Given the description of an element on the screen output the (x, y) to click on. 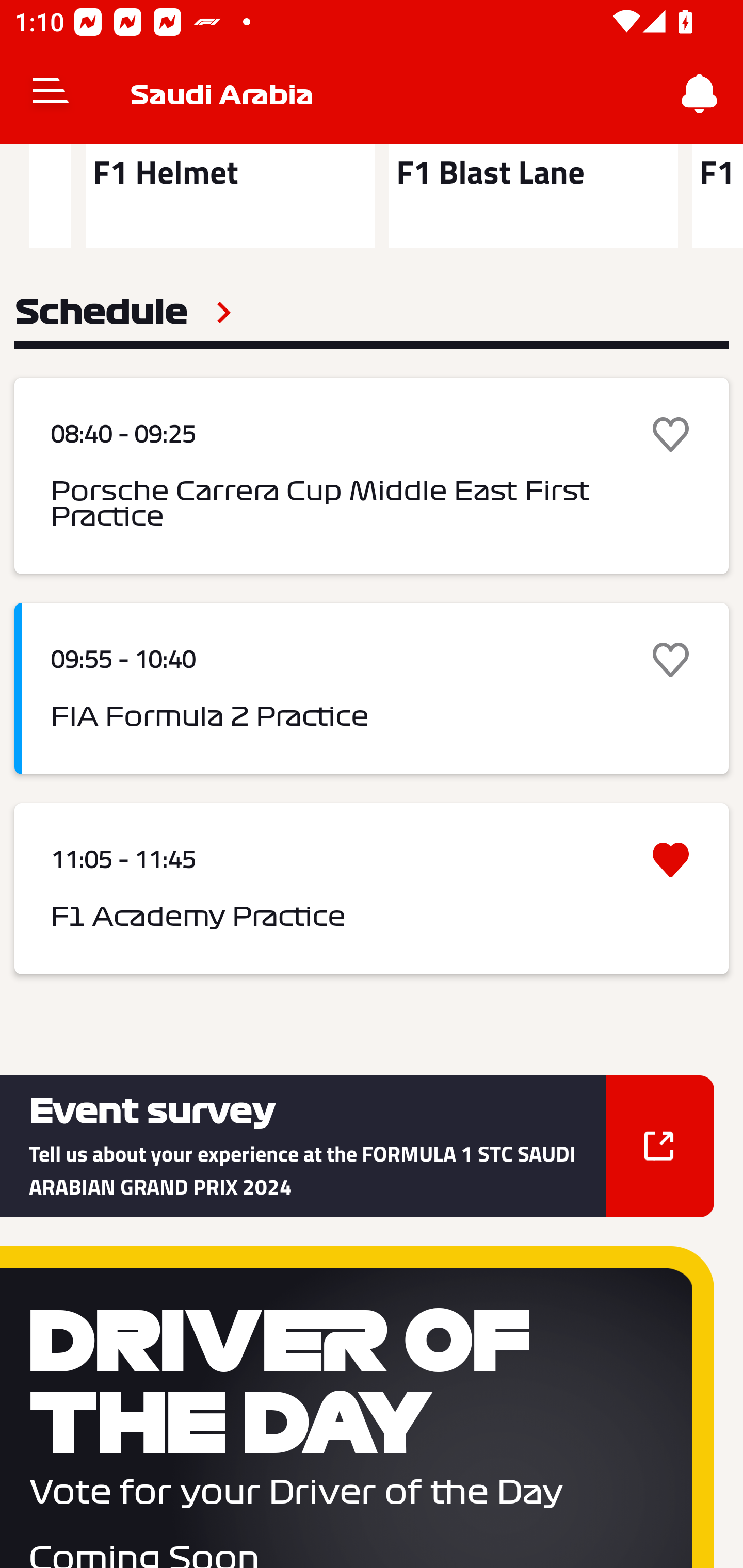
Navigate up (50, 93)
Notifications (699, 93)
F1 Helmet (229, 195)
F1 Blast Lane (533, 195)
Schedule (122, 312)
09:55 - 10:40 FIA Formula 2 Practice (371, 688)
11:05 - 11:45 F1 Academy Practice (371, 887)
